Given the description of an element on the screen output the (x, y) to click on. 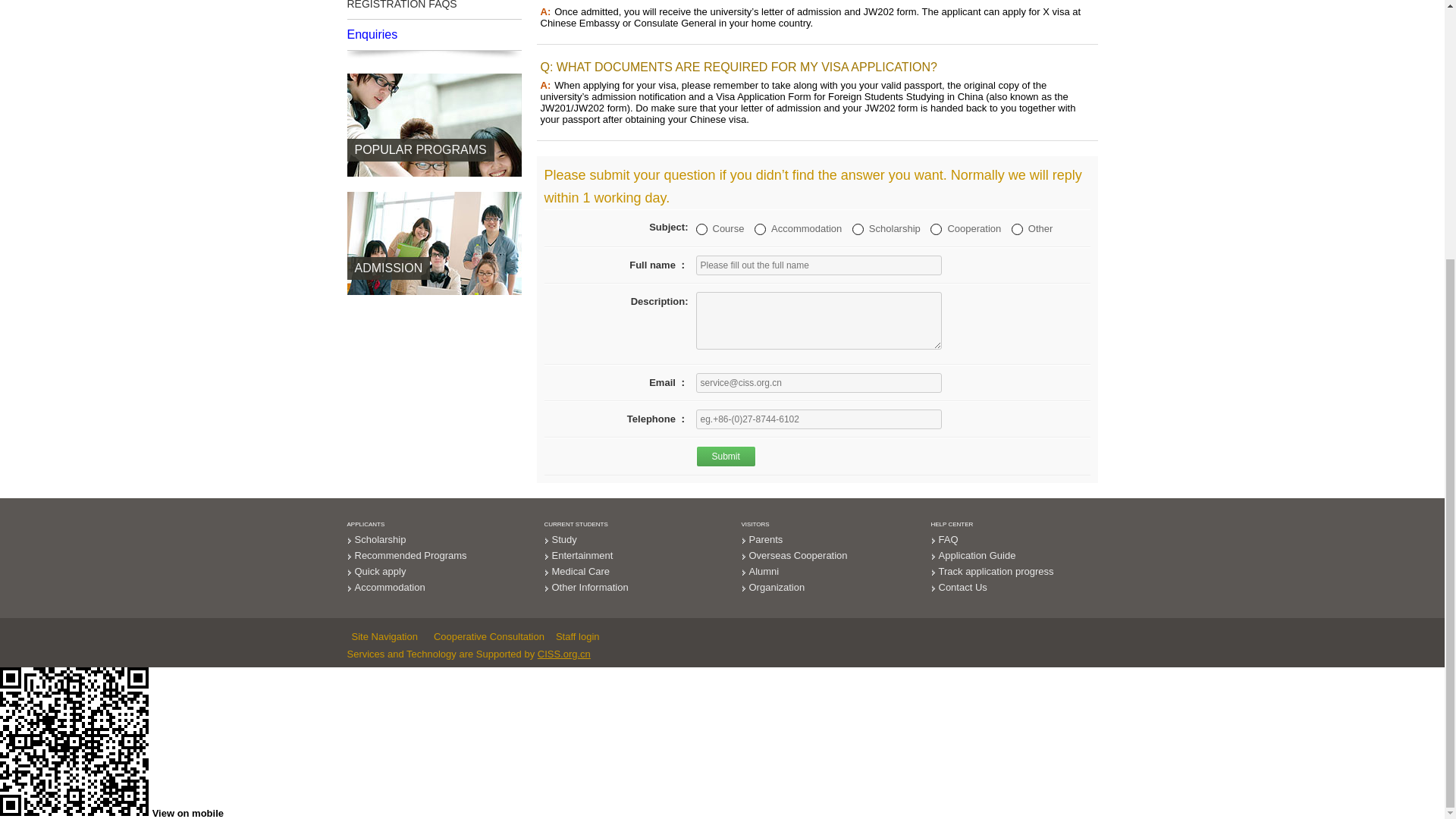
on (936, 229)
Parents (766, 539)
ADMISSION (434, 306)
Scholarship (380, 539)
Medical Care (580, 571)
Entertainment (581, 555)
Enquiries (434, 34)
on (701, 229)
POPULAR PROGRAMS (434, 188)
Alumni (763, 571)
on (857, 229)
Quick apply (380, 571)
Q: WHAT DOCUMENTS ARE REQUIRED FOR MY VISA APPLICATION? (738, 66)
Submit (725, 455)
on (759, 229)
